Given the description of an element on the screen output the (x, y) to click on. 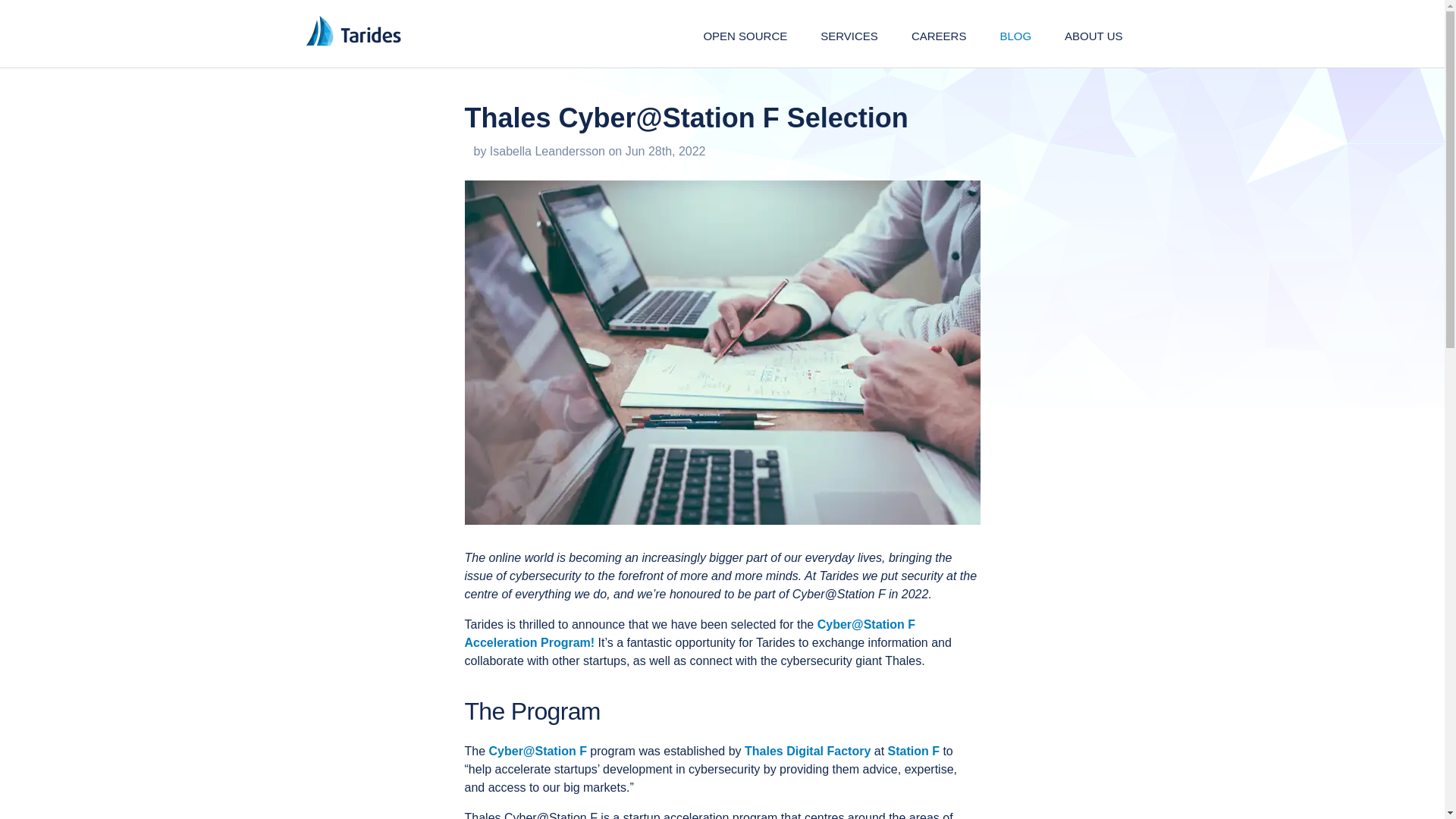
OPEN SOURCE (745, 35)
Station F (913, 750)
CAREERS (938, 35)
BLOG (1014, 35)
Thales Digital Factory (807, 750)
SERVICES (849, 35)
ABOUT US (1093, 35)
